Given the description of an element on the screen output the (x, y) to click on. 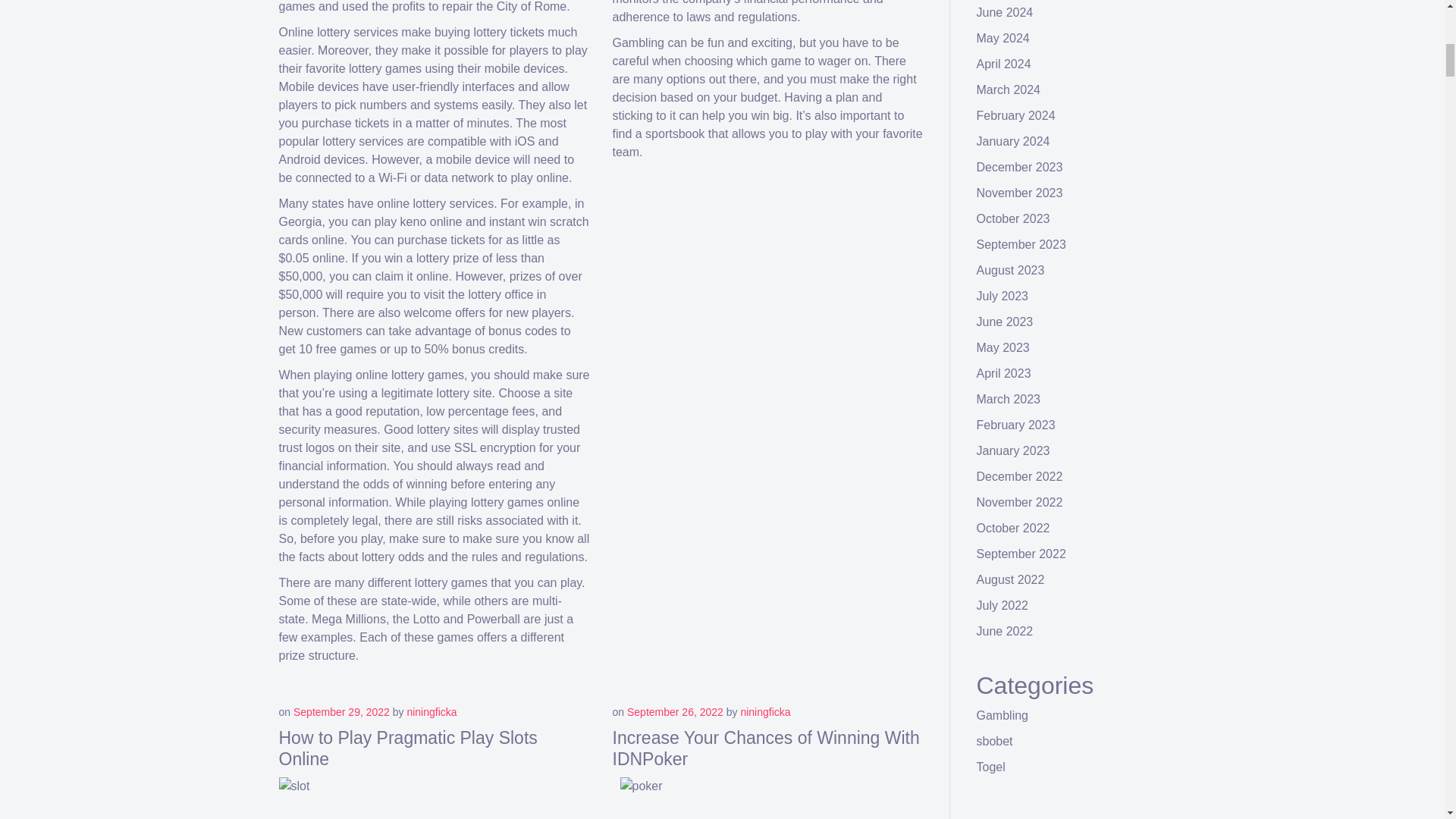
niningficka (431, 711)
How to Play Pragmatic Play Slots Online (408, 748)
niningficka (764, 711)
September 26, 2022 (675, 711)
September 29, 2022 (342, 711)
Increase Your Chances of Winning With IDNPoker (766, 748)
